Given the description of an element on the screen output the (x, y) to click on. 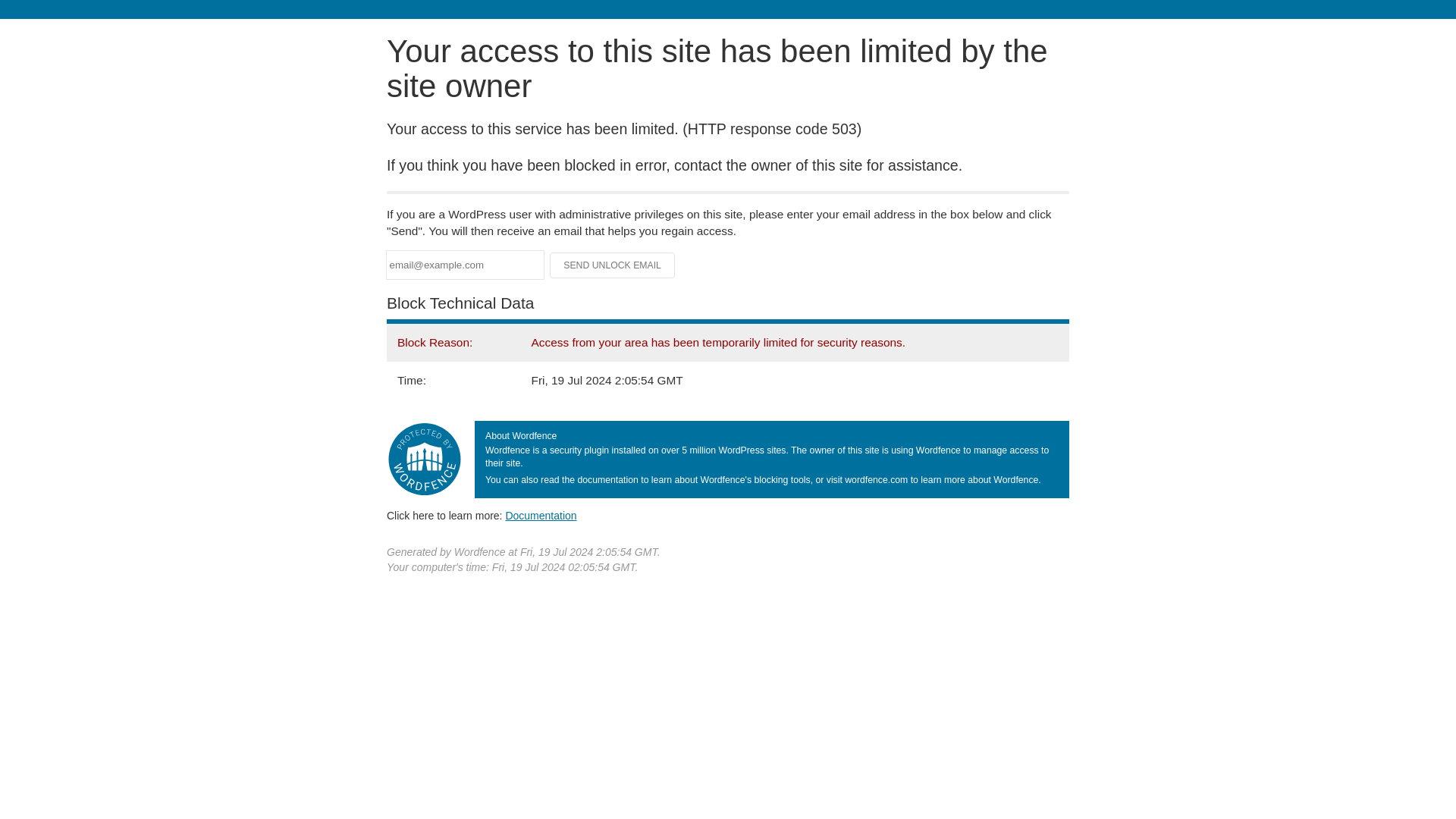
Send Unlock Email (612, 265)
Documentation (540, 515)
Send Unlock Email (612, 265)
